Given the description of an element on the screen output the (x, y) to click on. 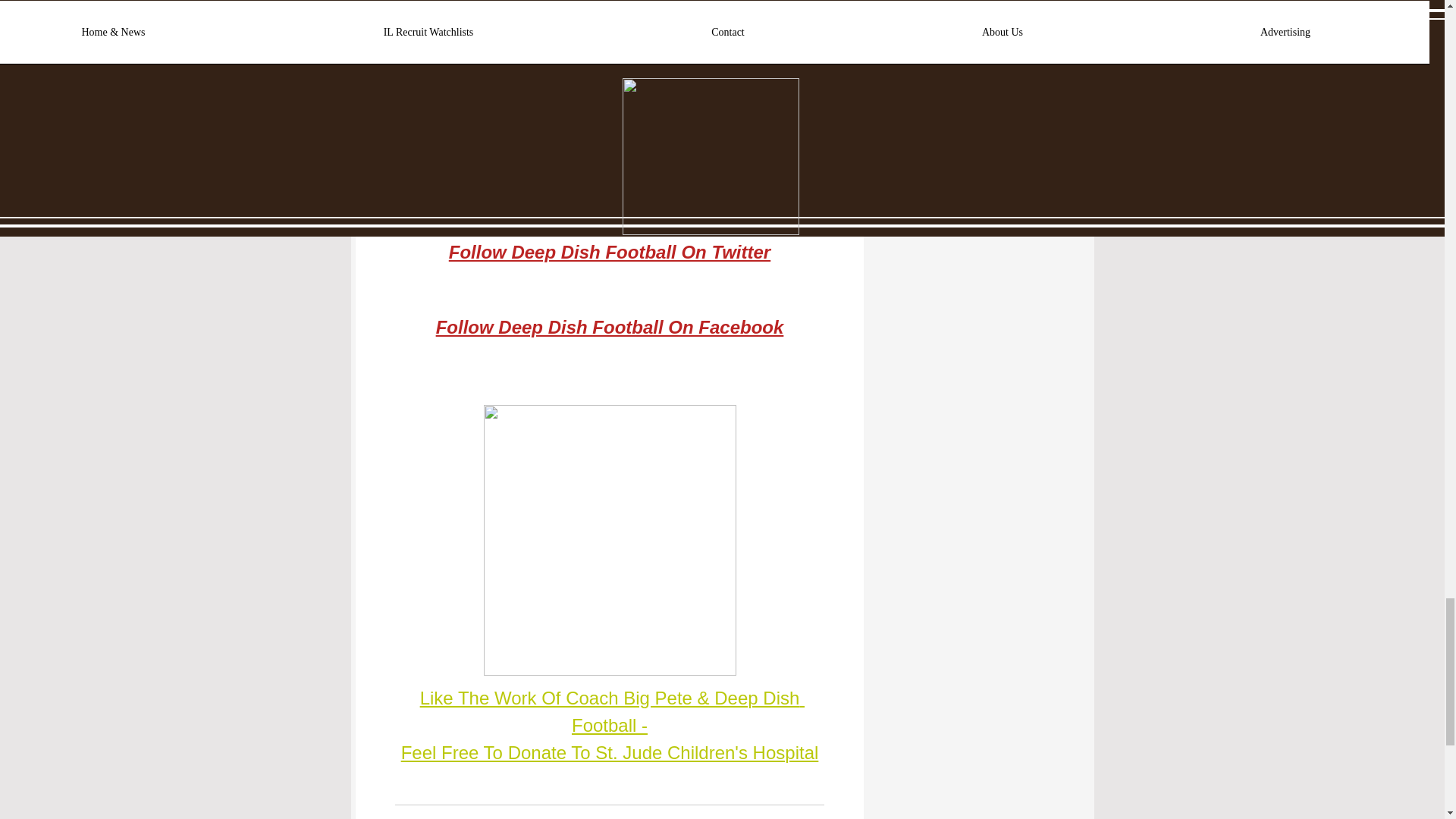
Follow Deep Dish Football On Facebook (609, 326)
Feel Free To Donate To St. Jude Children's Hospital (609, 752)
Follow Deep Dish Football On Twitter (609, 251)
